Given the description of an element on the screen output the (x, y) to click on. 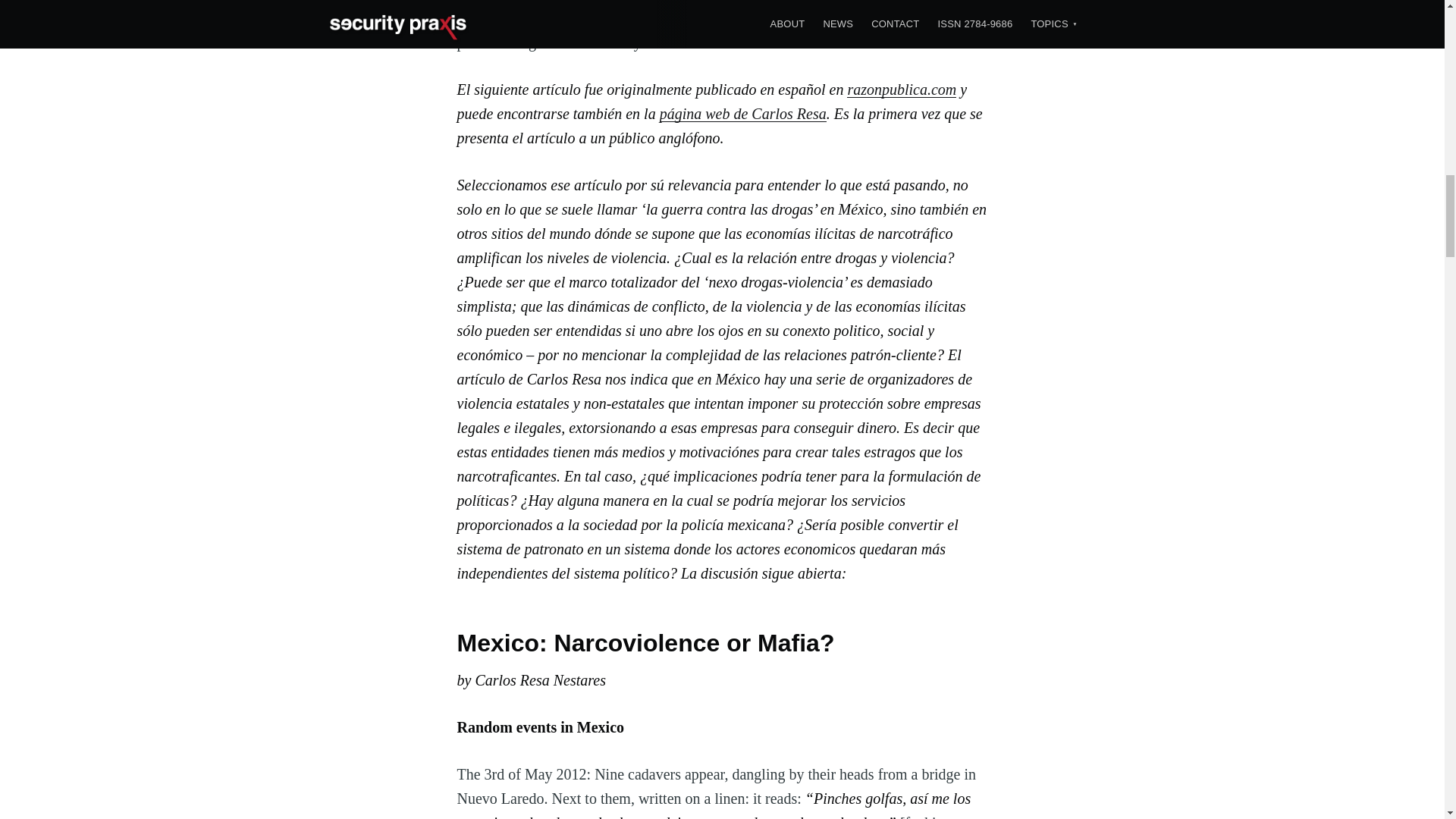
razonpublica.com (901, 89)
